Given the description of an element on the screen output the (x, y) to click on. 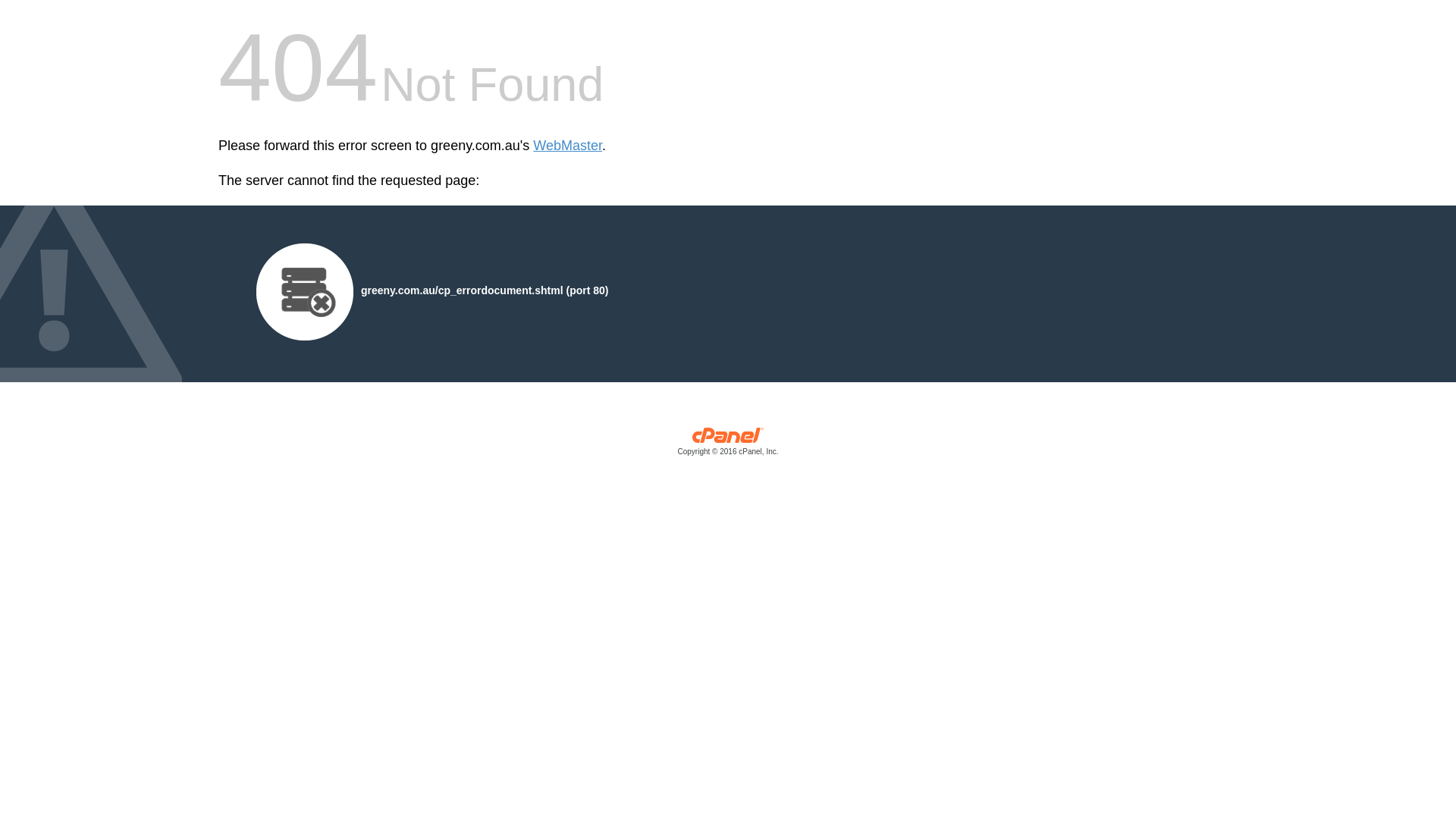
WebMaster Element type: text (567, 145)
